Given the description of an element on the screen output the (x, y) to click on. 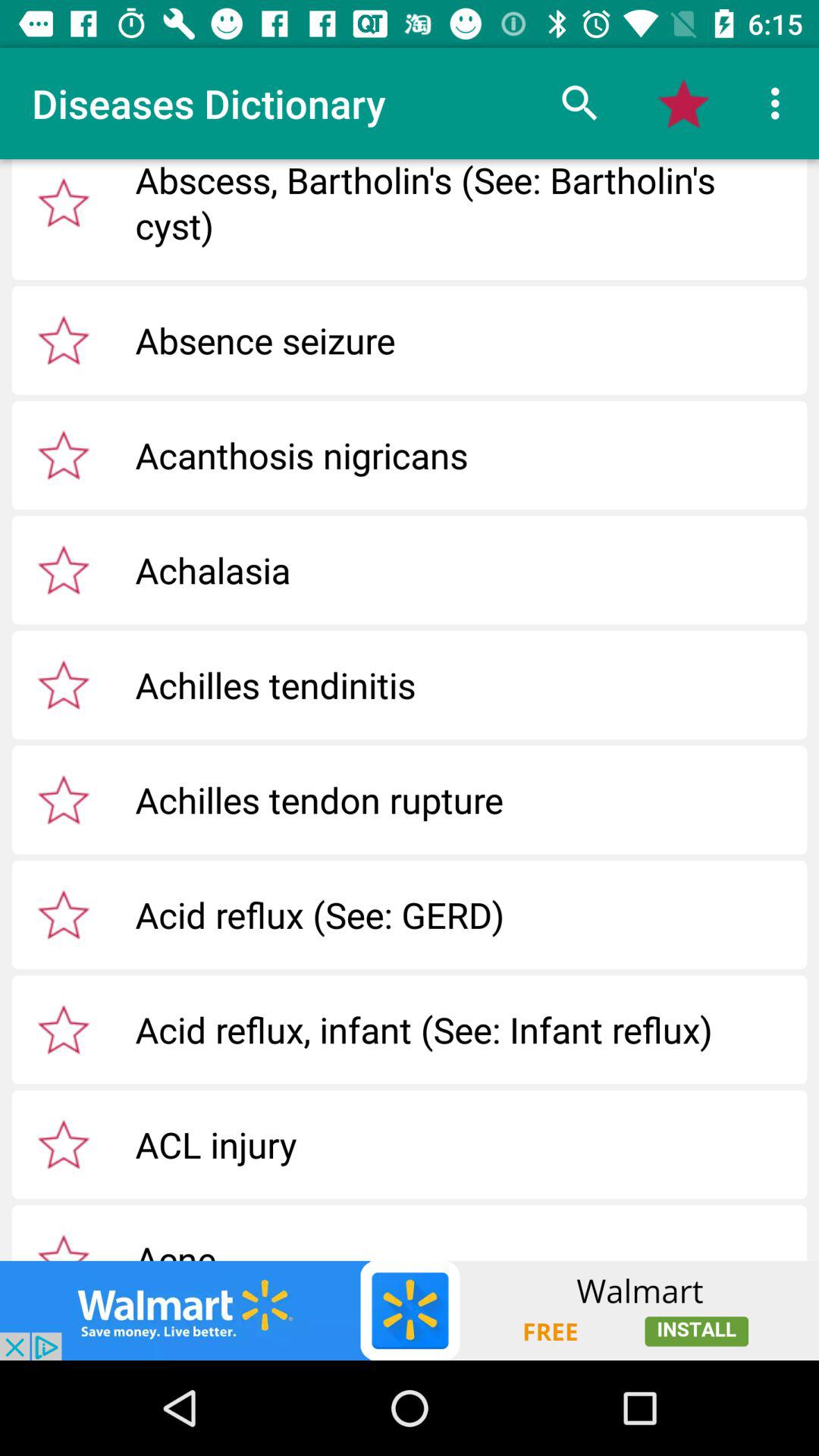
selete the star option (63, 1243)
